Given the description of an element on the screen output the (x, y) to click on. 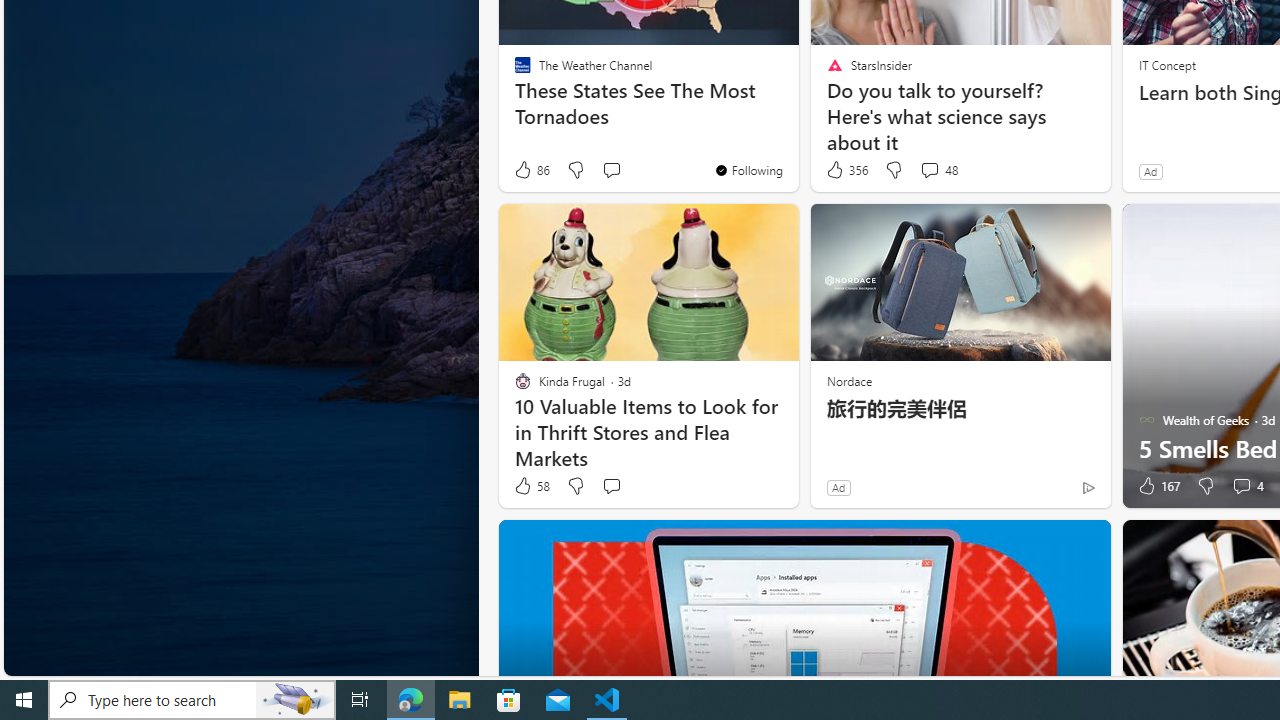
View comments 48 Comment (929, 169)
86 Like (531, 170)
58 Like (531, 485)
View comments 48 Comment (938, 170)
167 Like (1157, 485)
IT Concept (1166, 64)
